Given the description of an element on the screen output the (x, y) to click on. 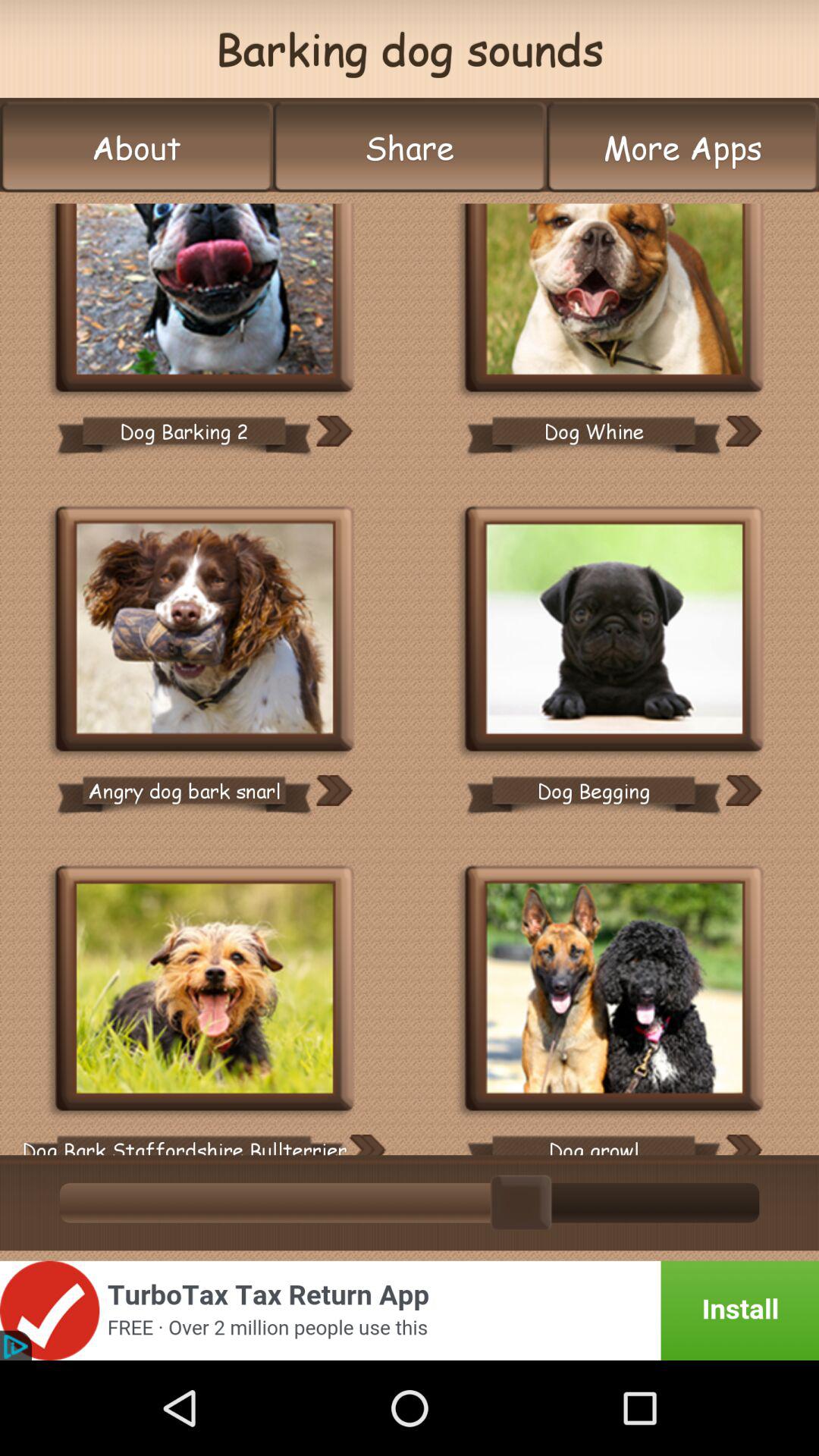
full picture (204, 298)
